Given the description of an element on the screen output the (x, y) to click on. 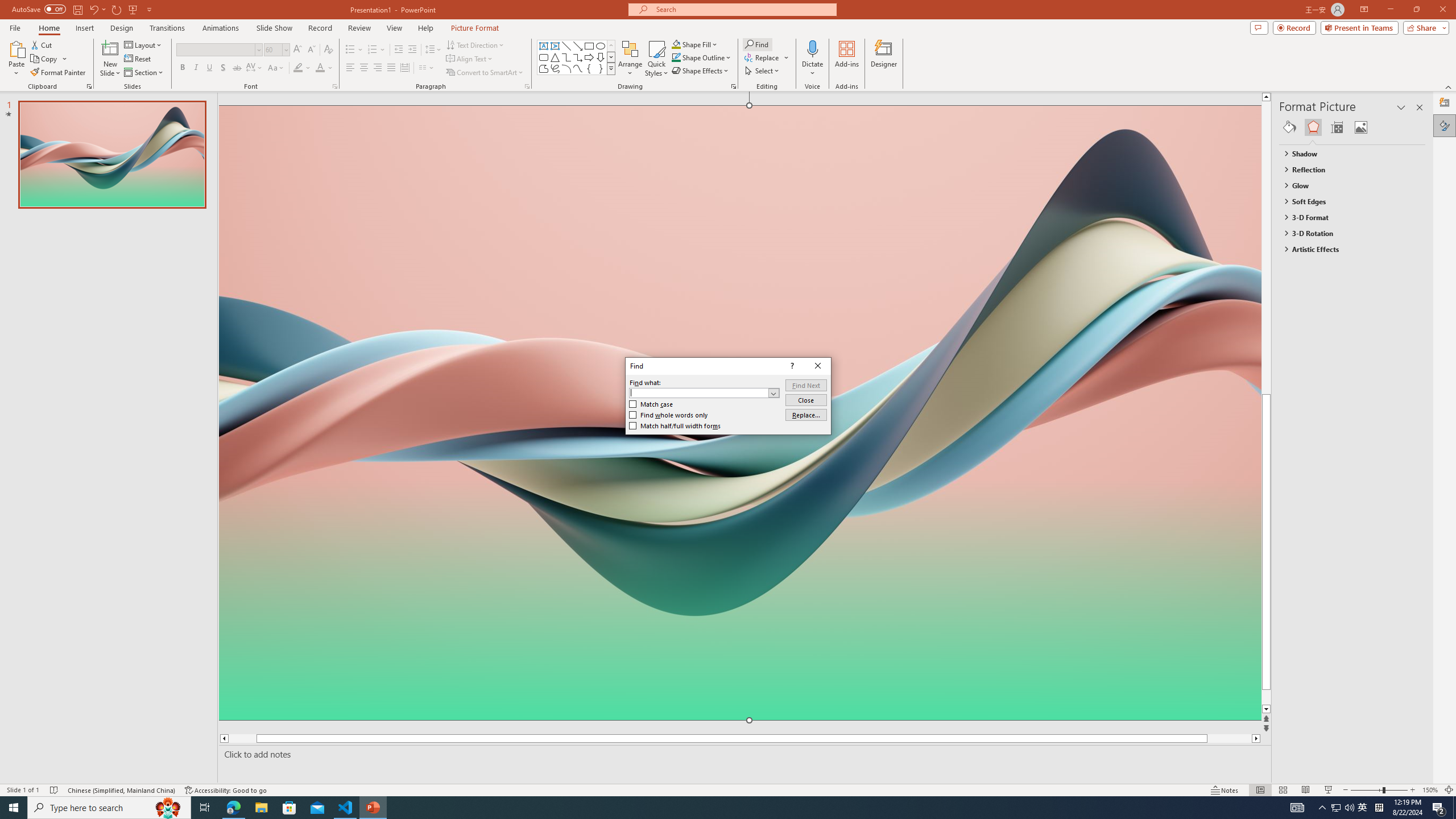
Action Center, 2 new notifications (1439, 807)
Change Case (276, 67)
Bold (182, 67)
Context help (791, 366)
Office Clipboard... (88, 85)
Effects (1313, 126)
